Given the description of an element on the screen output the (x, y) to click on. 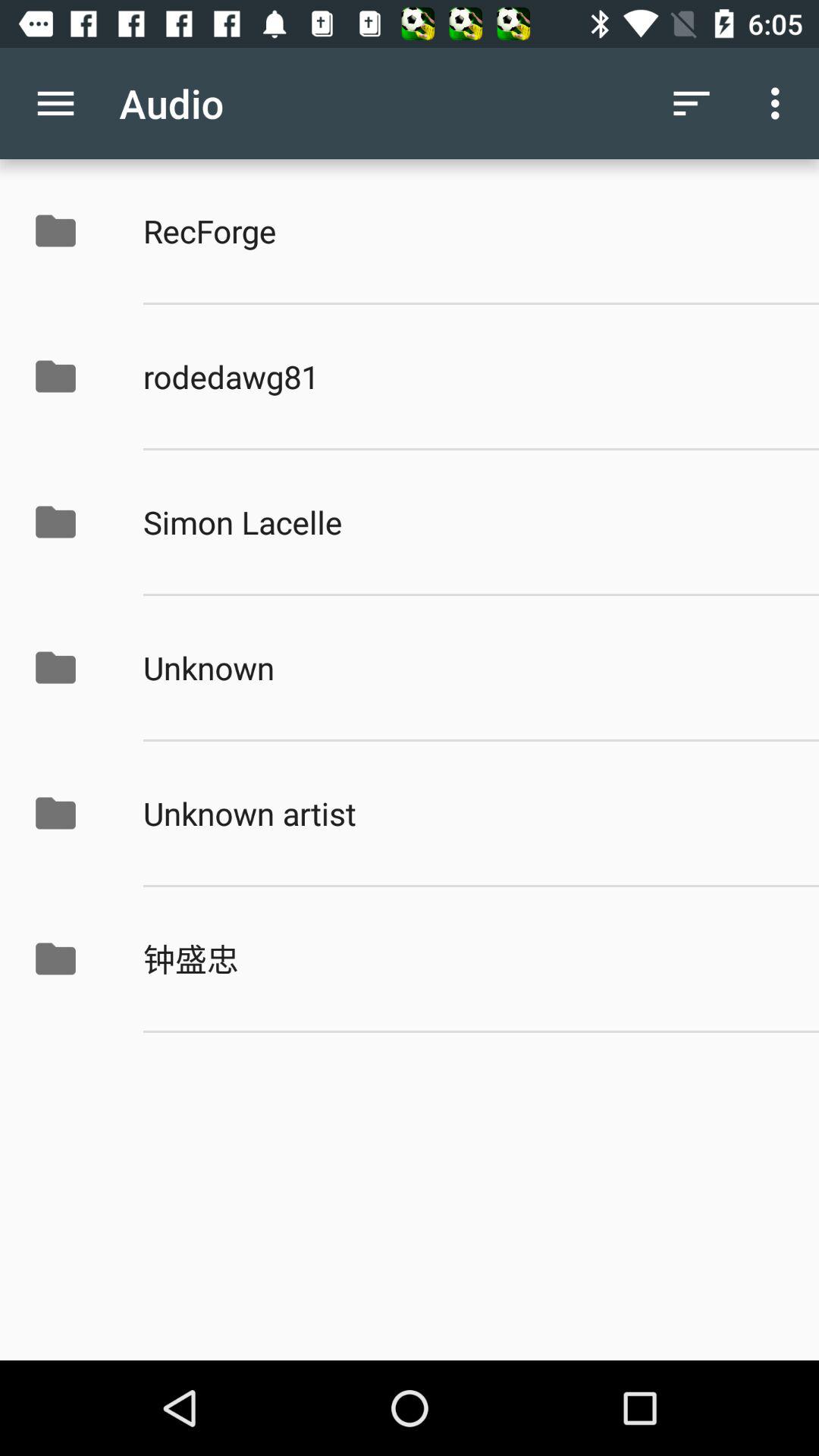
jump to the simon lacelle icon (465, 521)
